Given the description of an element on the screen output the (x, y) to click on. 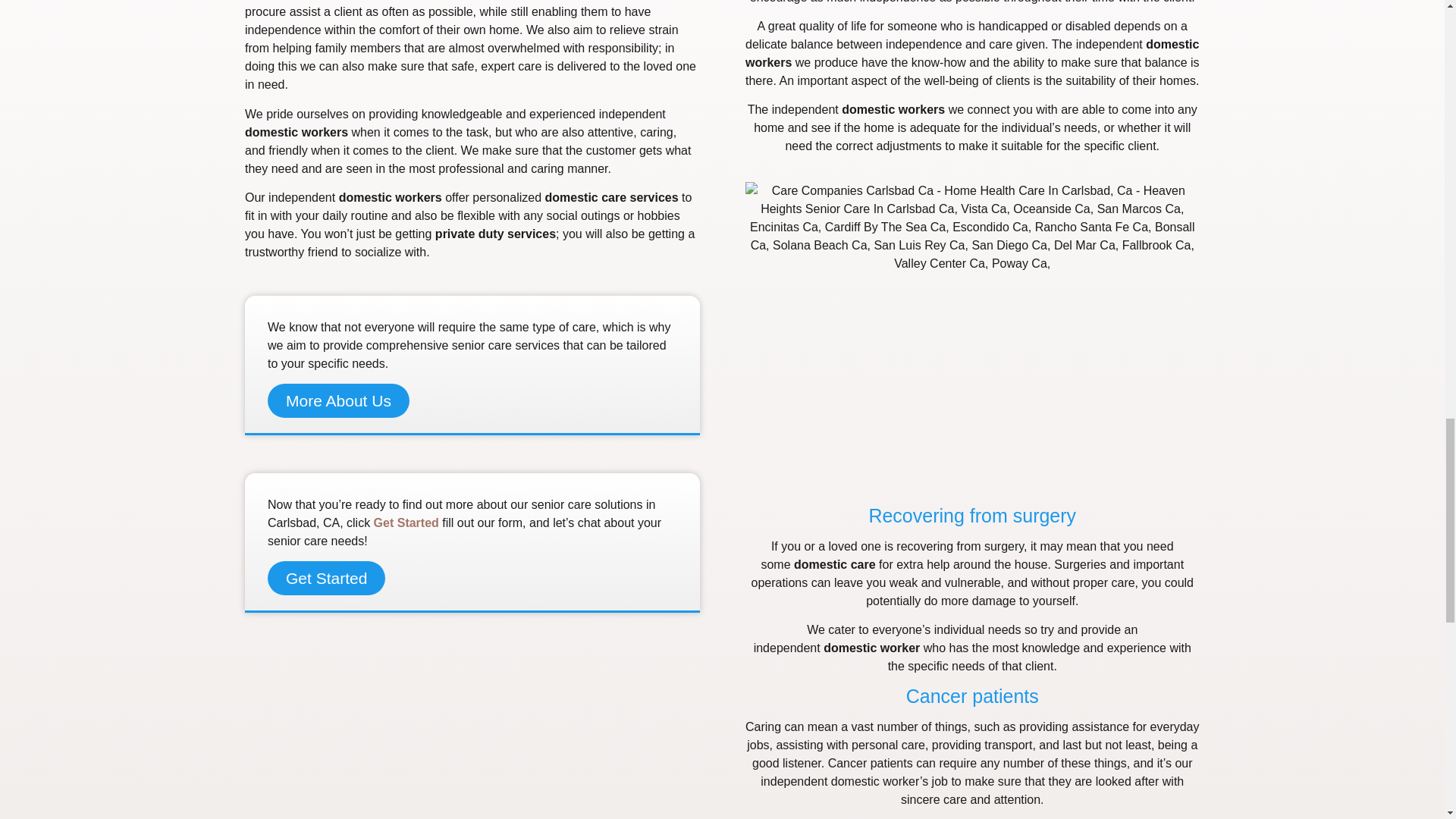
Get Started (326, 578)
More About Us (338, 400)
Get Started (406, 522)
